Given the description of an element on the screen output the (x, y) to click on. 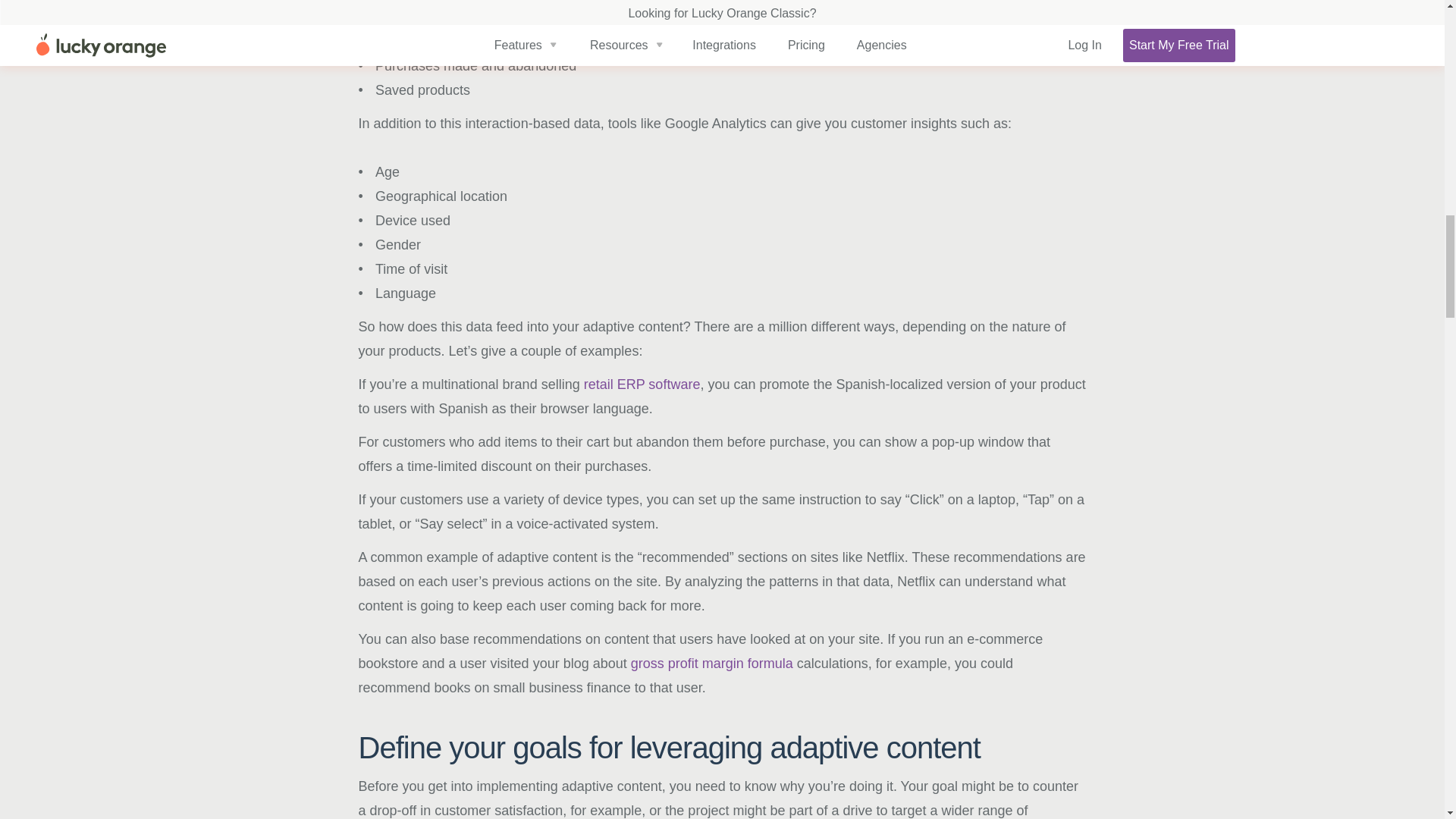
gross profit margin formula (711, 663)
retail ERP software (641, 384)
heatmaps (486, 41)
